Given the description of an element on the screen output the (x, y) to click on. 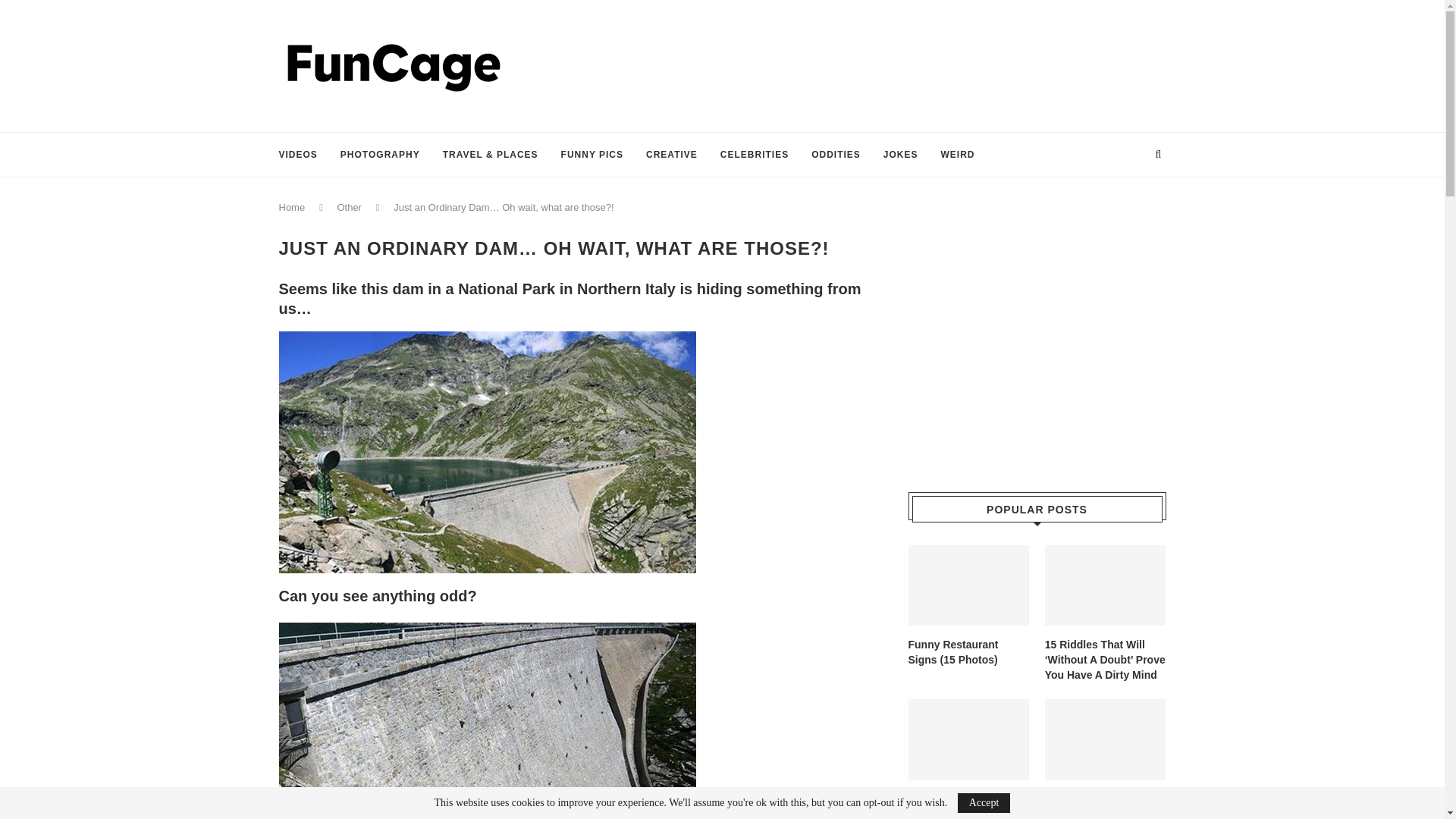
ODDITIES (835, 154)
CELEBRITIES (754, 154)
PHOTOGRAPHY (380, 154)
Advertisement (890, 64)
Home (292, 206)
FUNNY PICS (591, 154)
CREATIVE (671, 154)
Other (348, 206)
